Given the description of an element on the screen output the (x, y) to click on. 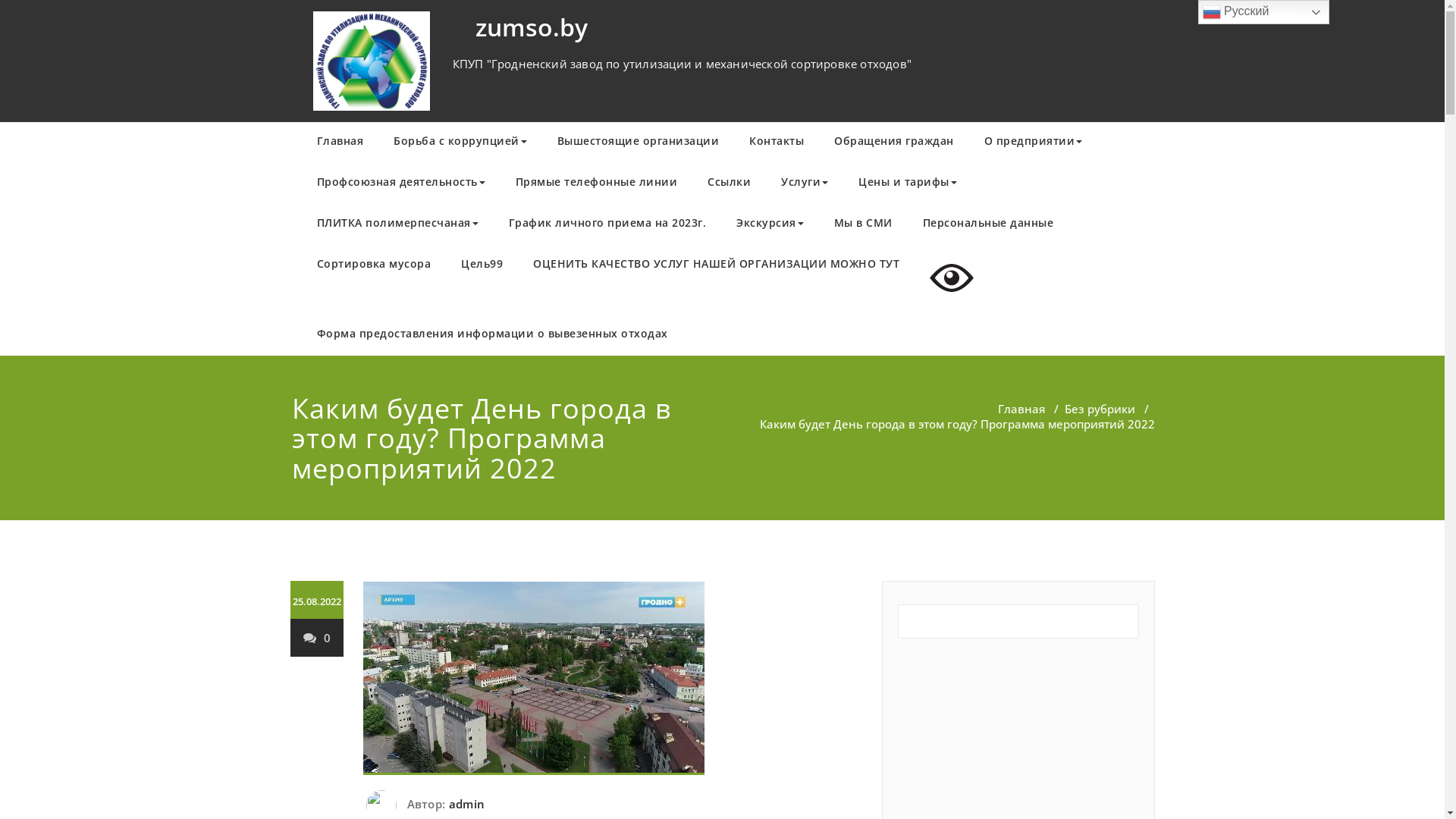
admin Element type: text (464, 803)
0 Element type: text (316, 636)
zumso.by Element type: text (530, 27)
